Given the description of an element on the screen output the (x, y) to click on. 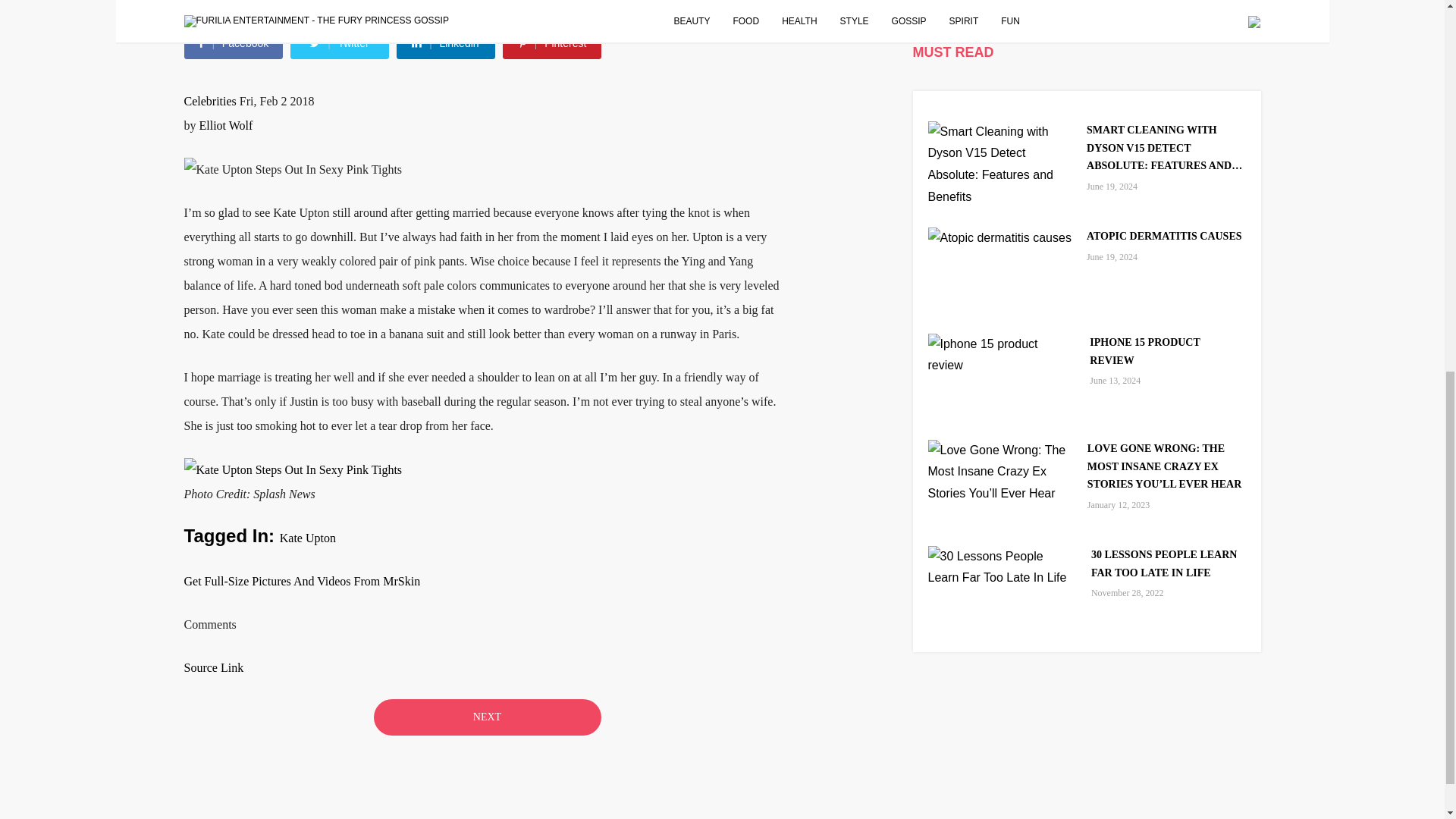
NEXT (485, 717)
Kate Upton Steps Out In Sexy Pink Tights 1 (292, 169)
30 Lessons People Learn Far Too Late In Life (1001, 566)
Elliot Wolf (224, 124)
Linkedin (445, 42)
Celebrities (209, 101)
Get Full-Size Pictures And Videos From MrSkin (301, 581)
Ben (196, 4)
Kate Upton Steps Out In Sexy Pink Tights 2 (292, 469)
30 LESSONS PEOPLE LEARN FAR TOO LATE IN LIFE (1168, 564)
